Given the description of an element on the screen output the (x, y) to click on. 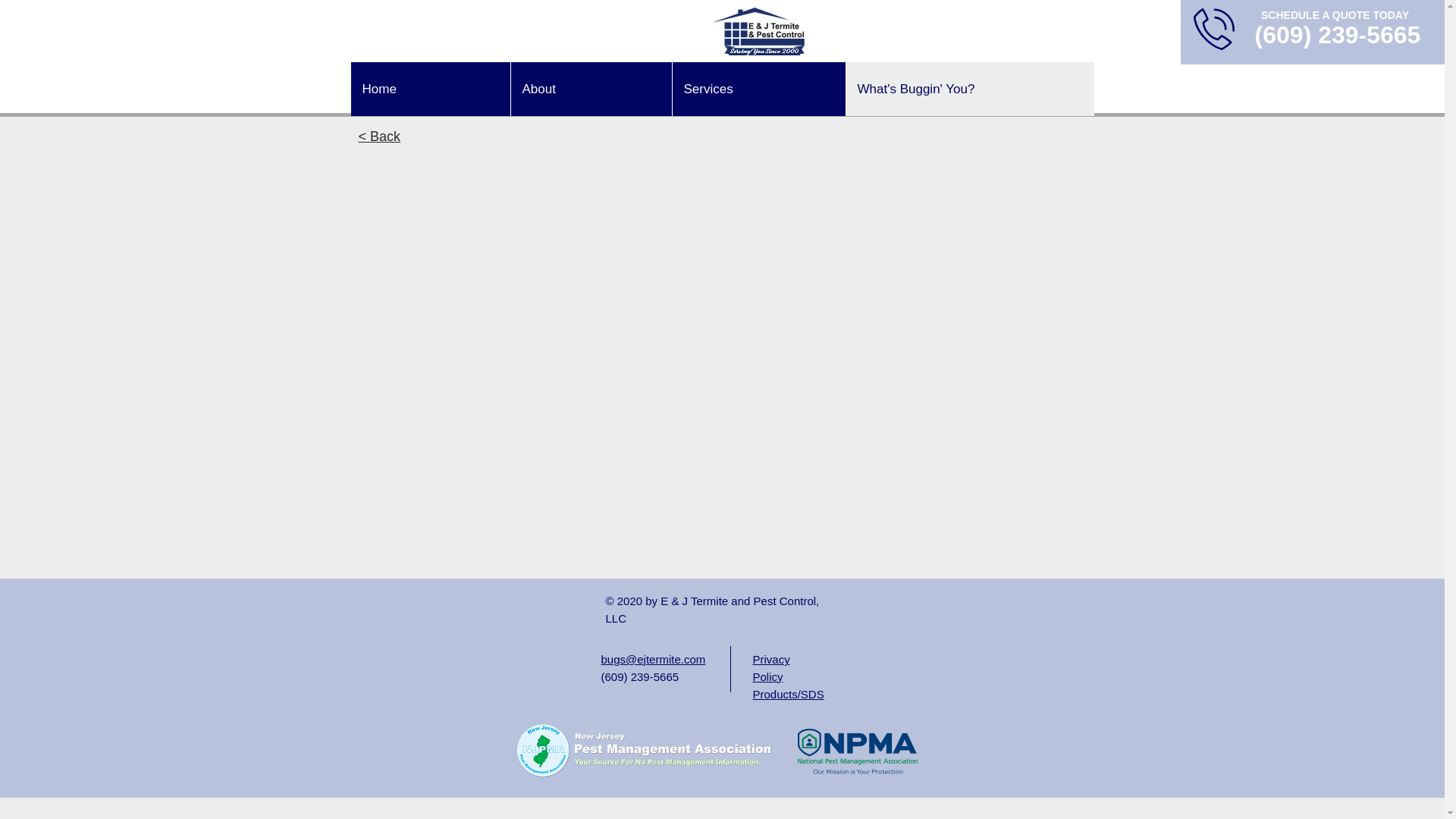
What's Buggin' You? (968, 89)
Services (758, 89)
About (590, 89)
Privacy Policy (770, 667)
Home (429, 89)
